Given the description of an element on the screen output the (x, y) to click on. 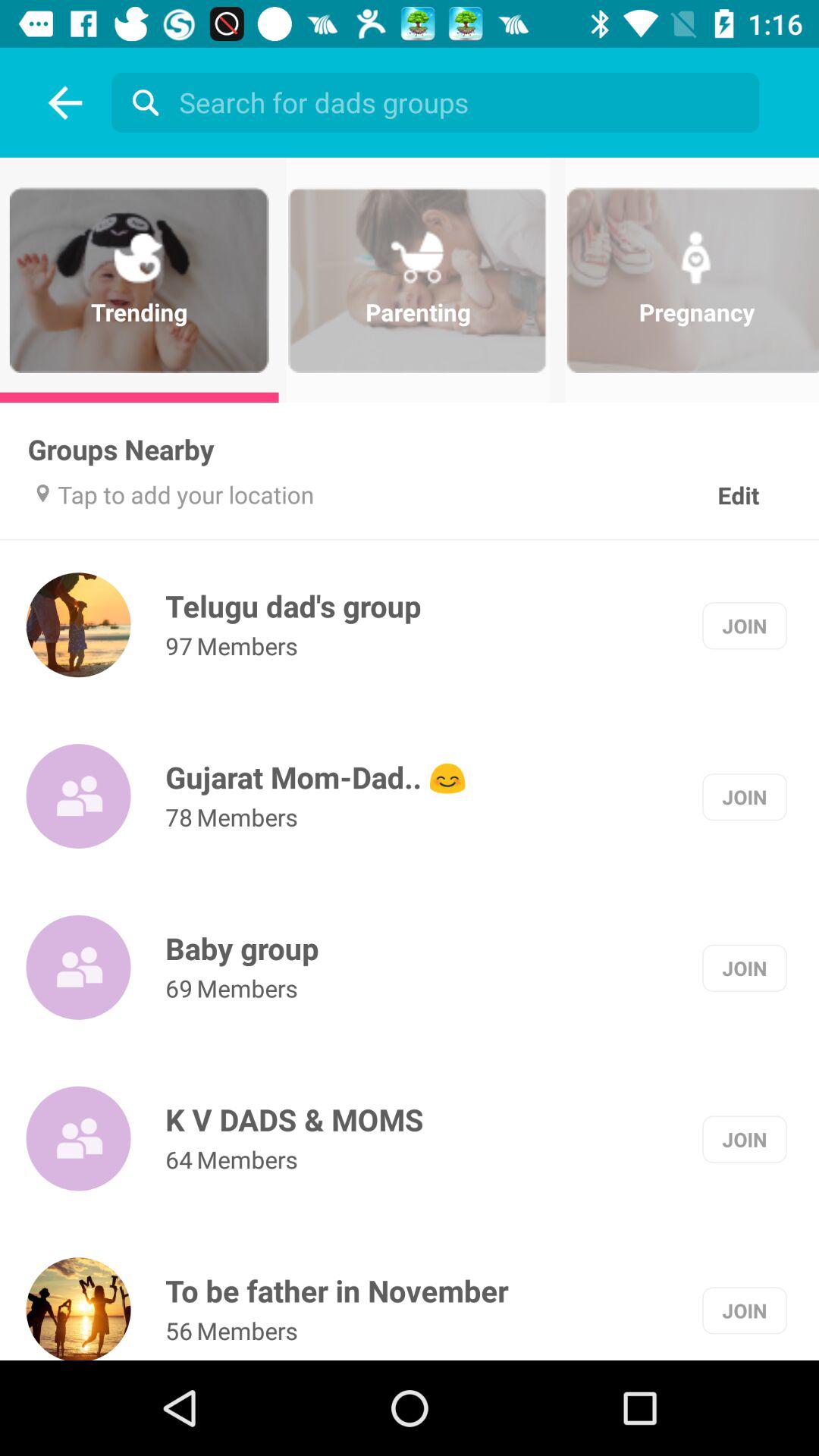
launch the 69 (178, 987)
